Given the description of an element on the screen output the (x, y) to click on. 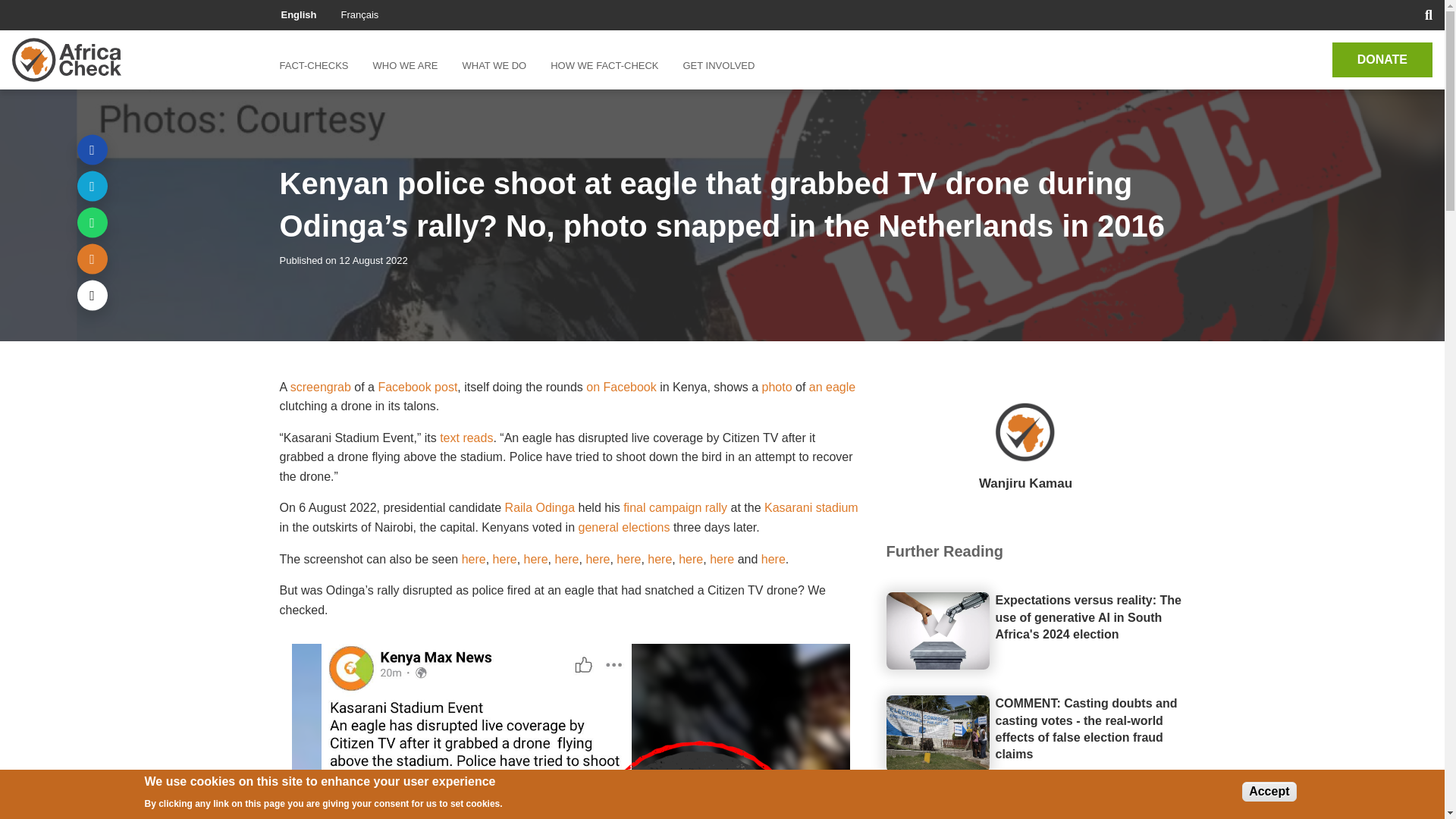
WHO WE ARE (405, 65)
WHAT WE DO (493, 65)
DONATE (1382, 59)
FACT-CHECKS (319, 65)
HOW WE FACT-CHECK (603, 65)
English (298, 14)
GET INVOLVED (718, 65)
